Given the description of an element on the screen output the (x, y) to click on. 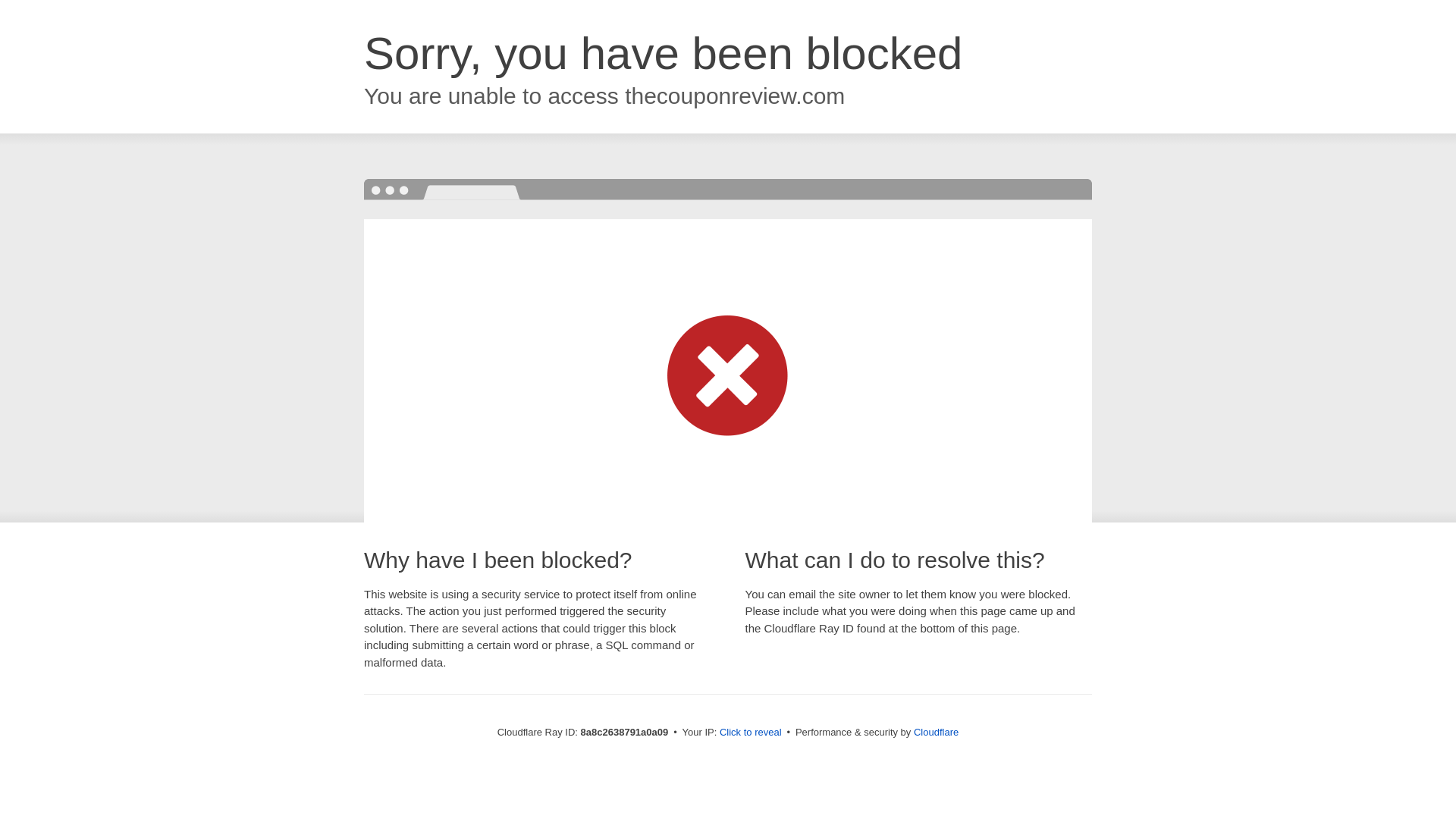
Click to reveal (750, 732)
Cloudflare (936, 731)
